Given the description of an element on the screen output the (x, y) to click on. 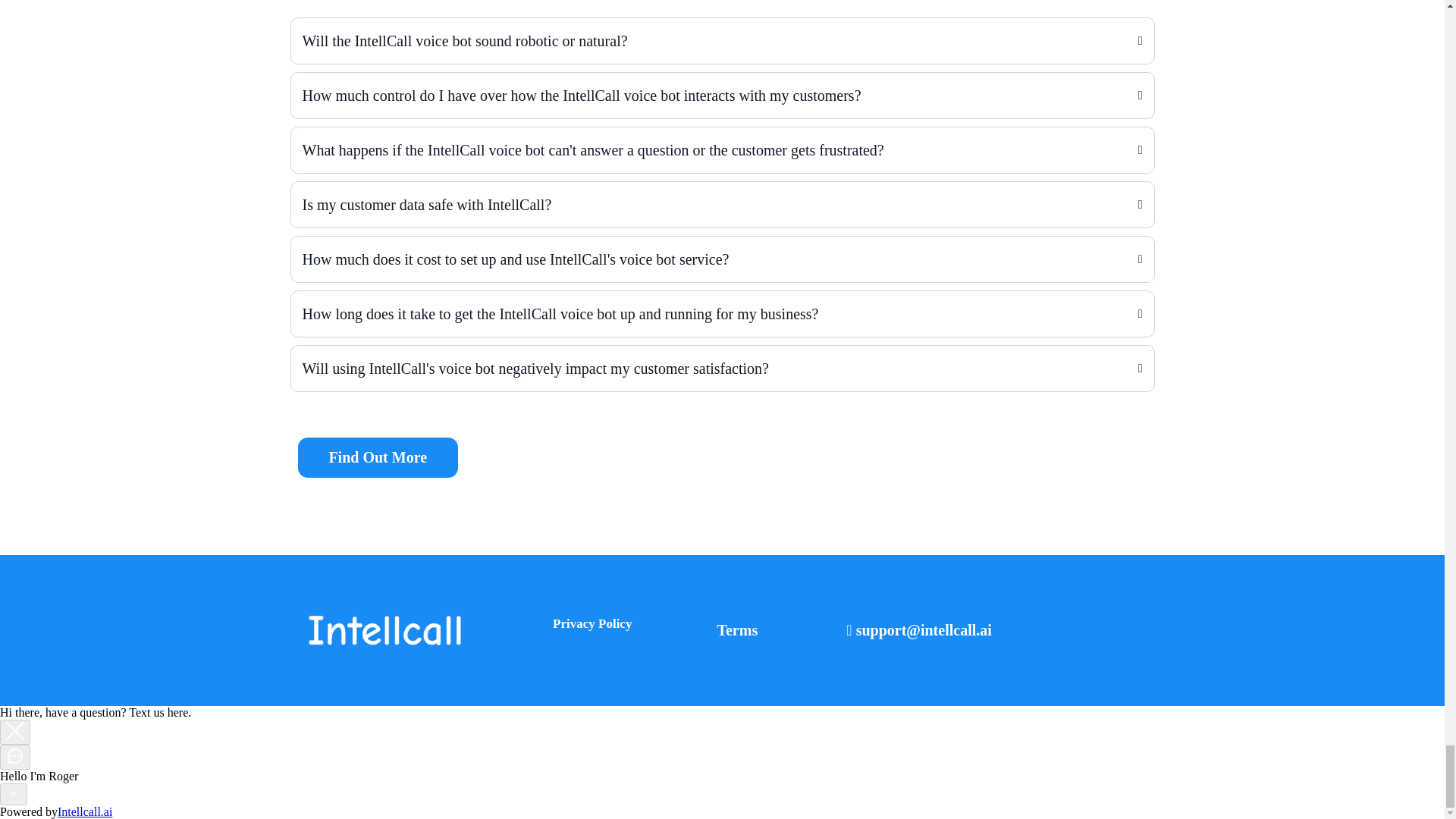
Terms (736, 630)
Privacy Policy (589, 630)
Find Out More (376, 457)
